Given the description of an element on the screen output the (x, y) to click on. 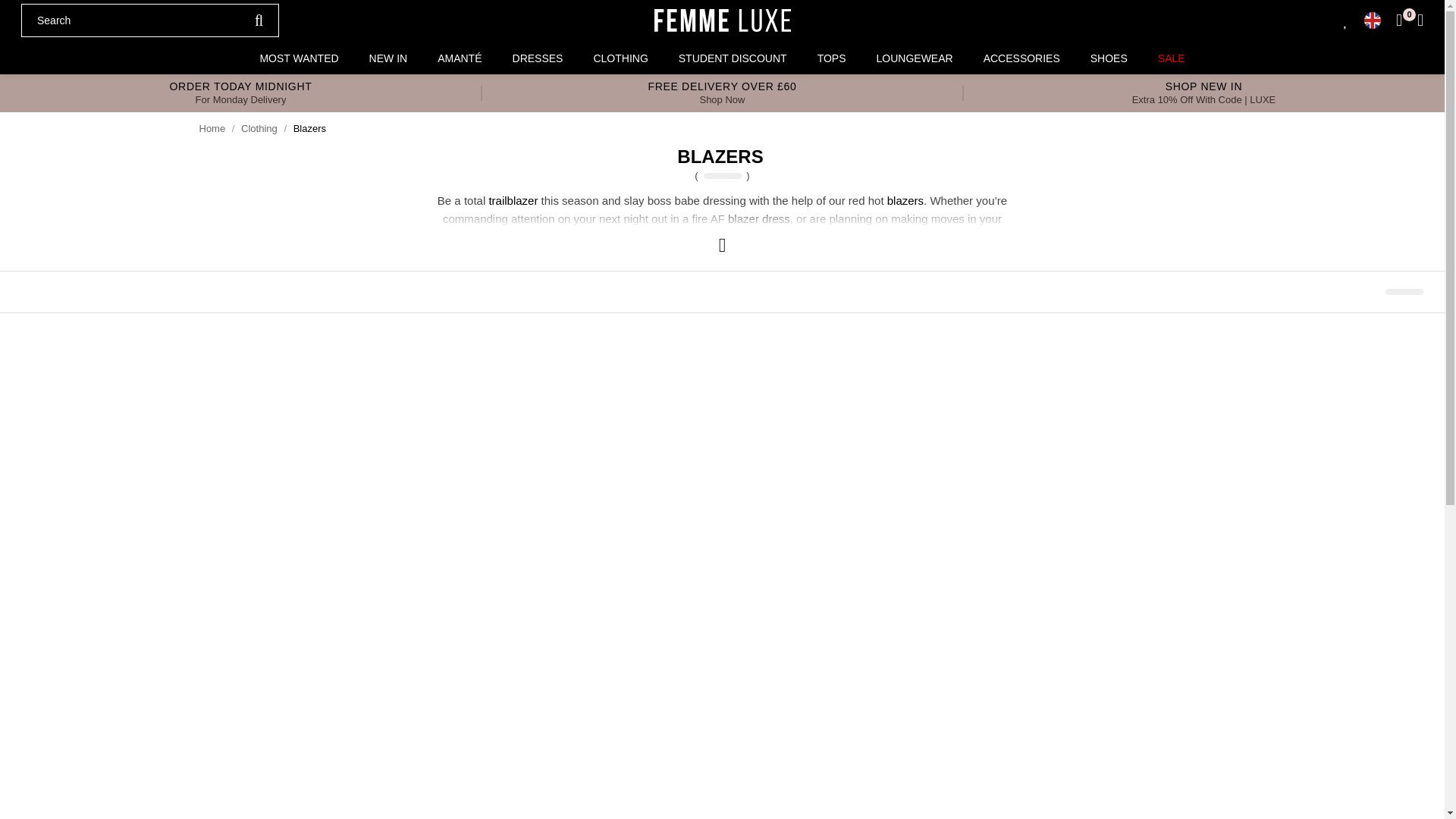
MOST WANTED (298, 57)
submit (259, 20)
NEW IN (388, 57)
DRESSES (537, 57)
Femme Luxe (721, 20)
Home (211, 128)
Clothing (259, 128)
